Given the description of an element on the screen output the (x, y) to click on. 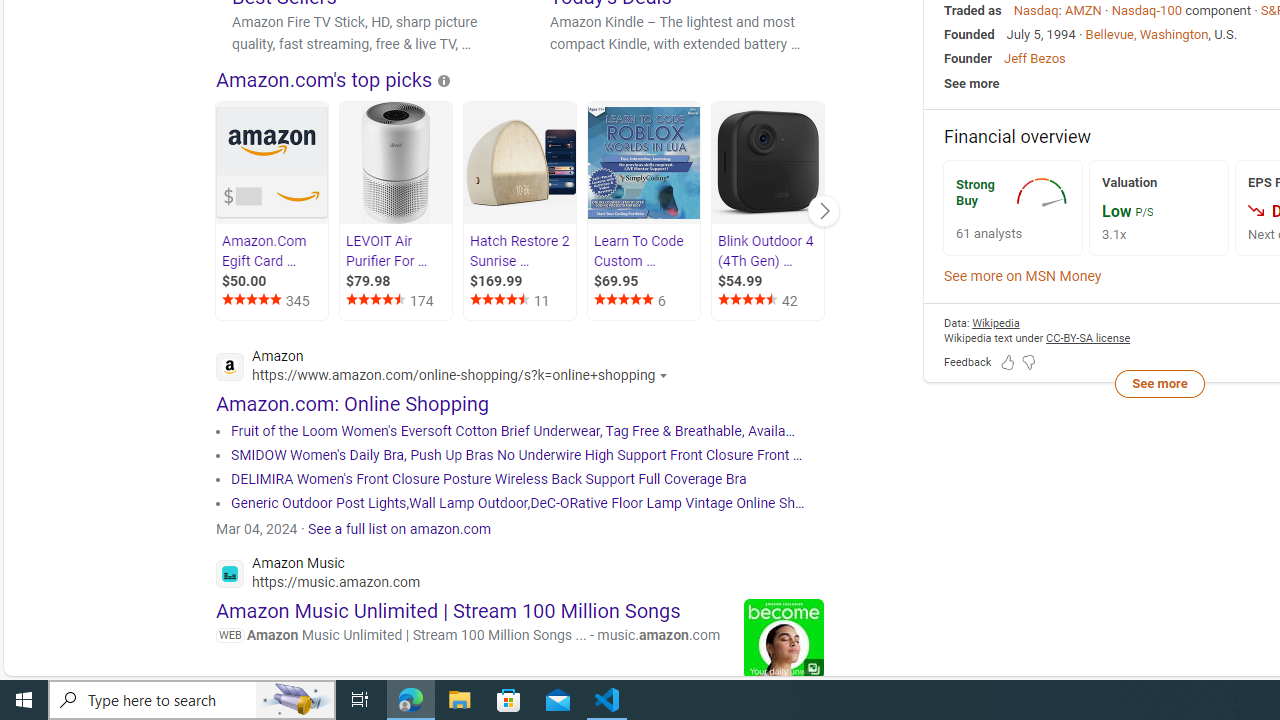
Star Rating: 5 out of 5. (625, 302)
345 (273, 300)
See more (1159, 382)
To get missing image descriptions, open the context menu. (1043, 191)
$169.99 (521, 281)
Traded as (973, 10)
Strong Buy 61 analysts (1012, 207)
